Given the description of an element on the screen output the (x, y) to click on. 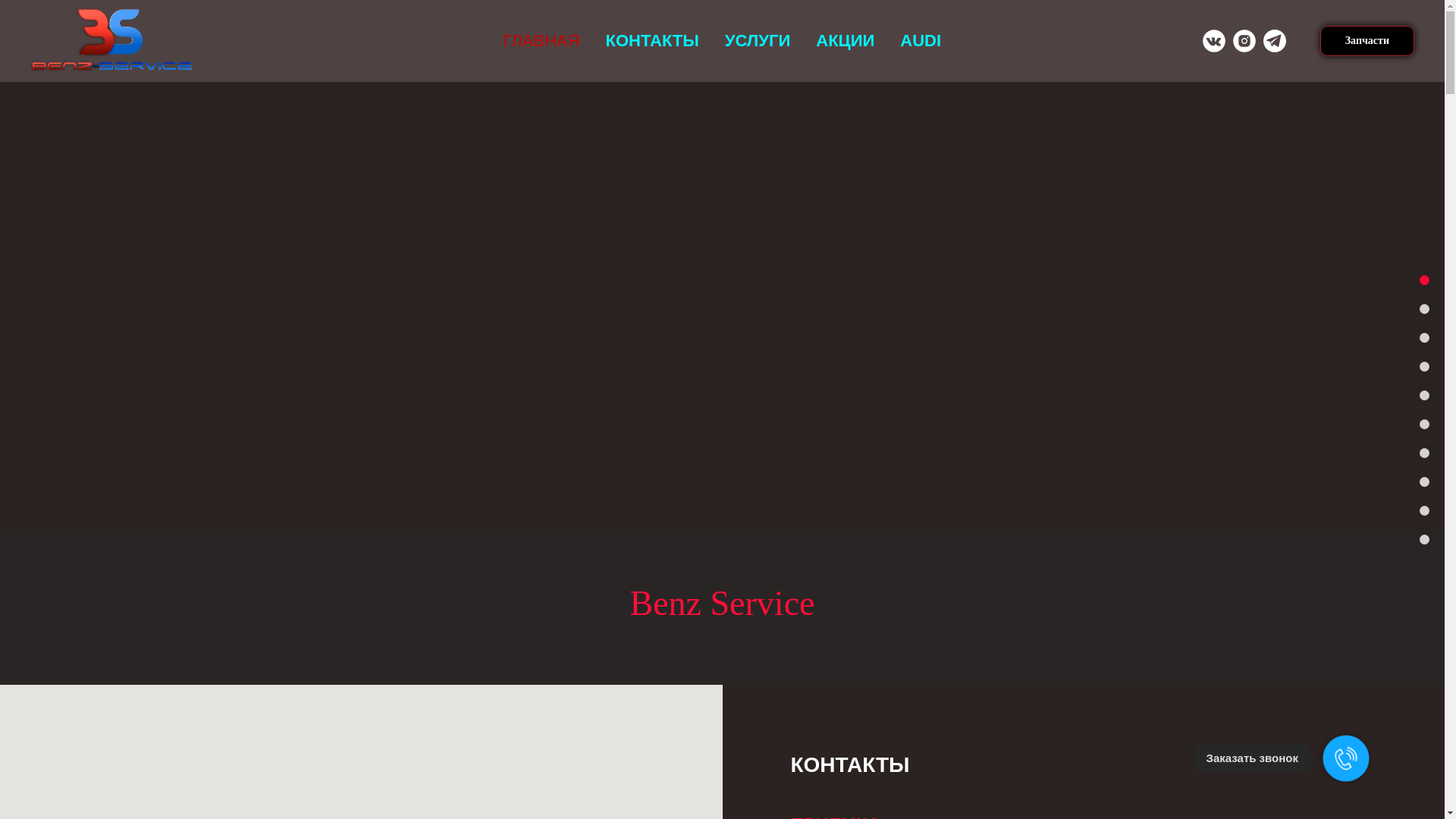
Instagram Element type: text (1244, 40)
Telegram Element type: text (1274, 40)
AUDI Element type: text (920, 40)
